Given the description of an element on the screen output the (x, y) to click on. 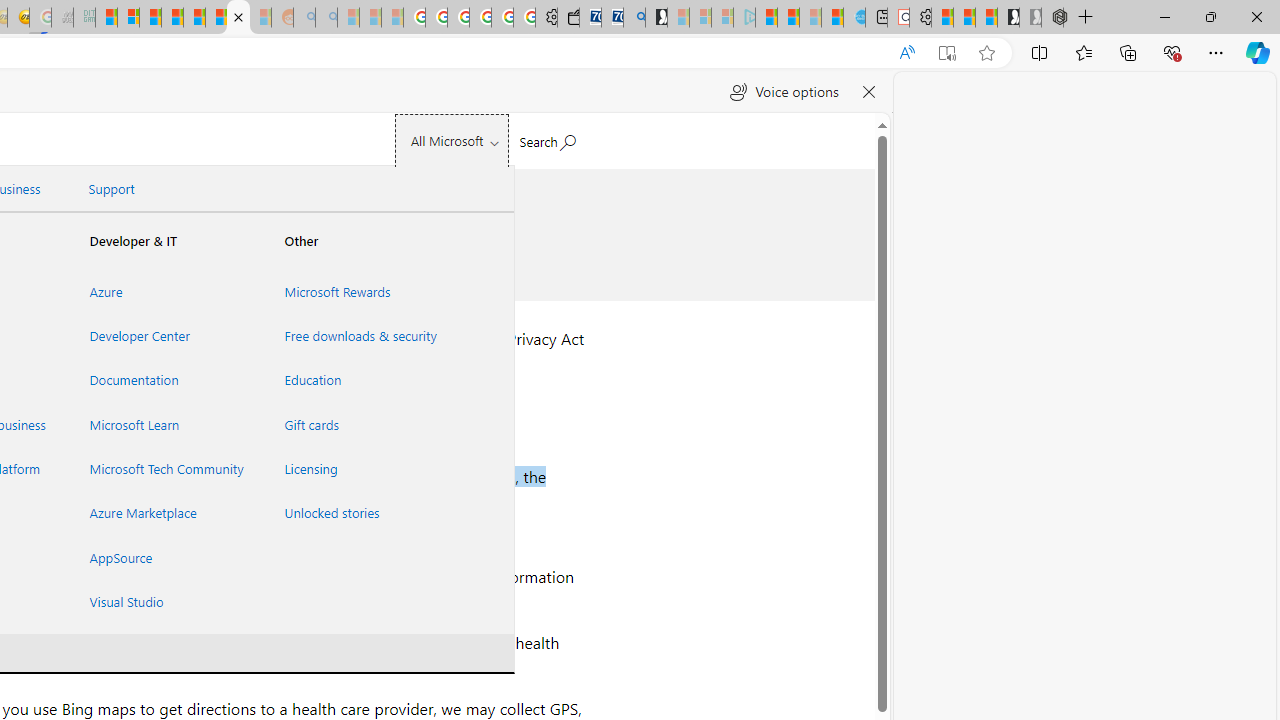
MSNBC - MSN (106, 17)
Developer Center (163, 336)
Microsoft Learn (163, 424)
AppSource (163, 557)
Education (357, 380)
Documentation (163, 380)
Azure (163, 291)
Support (111, 189)
Consumer Health Data Privacy Policy (238, 17)
Close read aloud (868, 92)
